Given the description of an element on the screen output the (x, y) to click on. 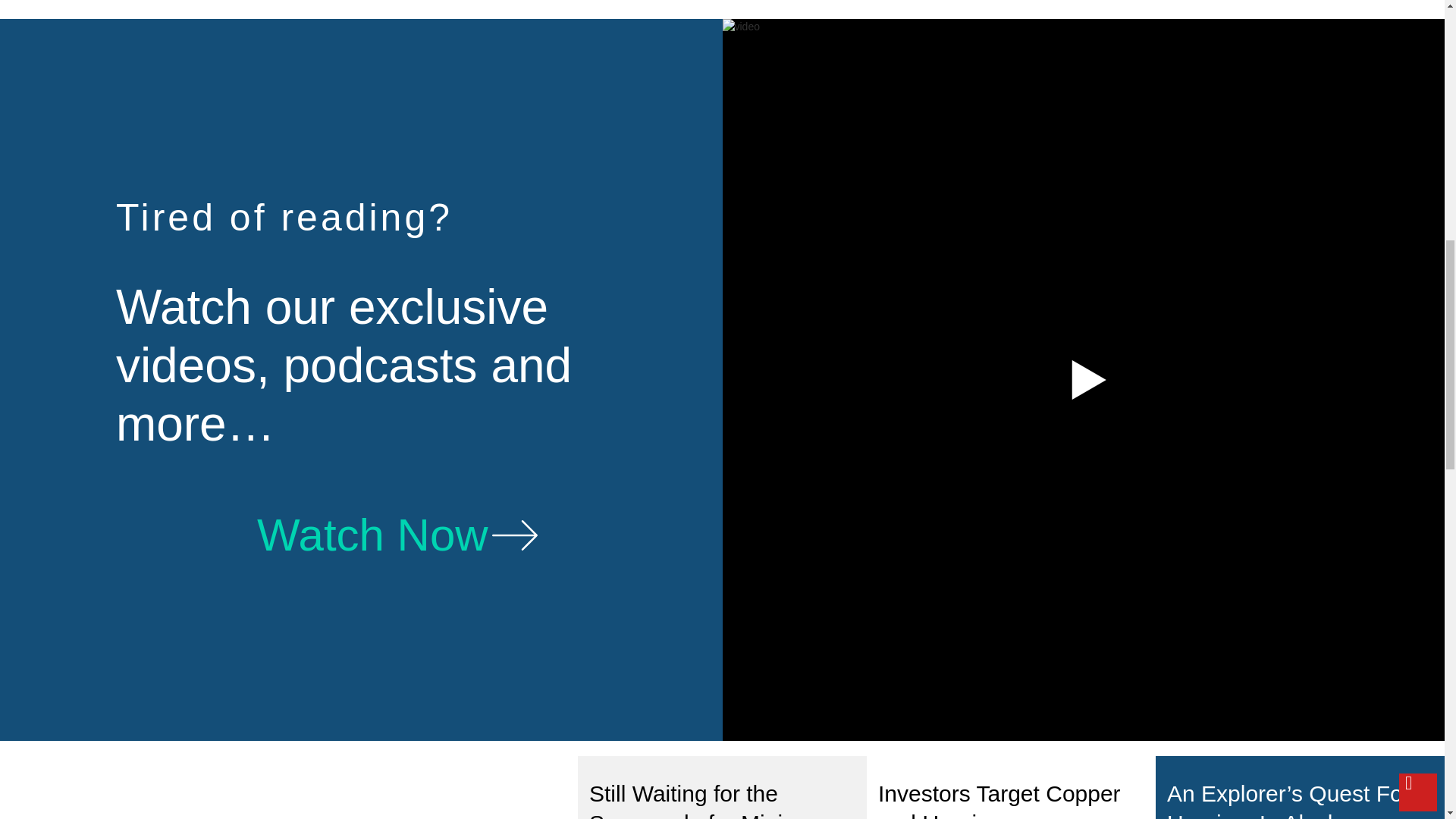
Still Waiting for the Supercycle for Mining Stocks? (709, 800)
Tired of reading? (284, 217)
Watch Now (397, 535)
Investors Target Copper and Uranium (999, 800)
